Given the description of an element on the screen output the (x, y) to click on. 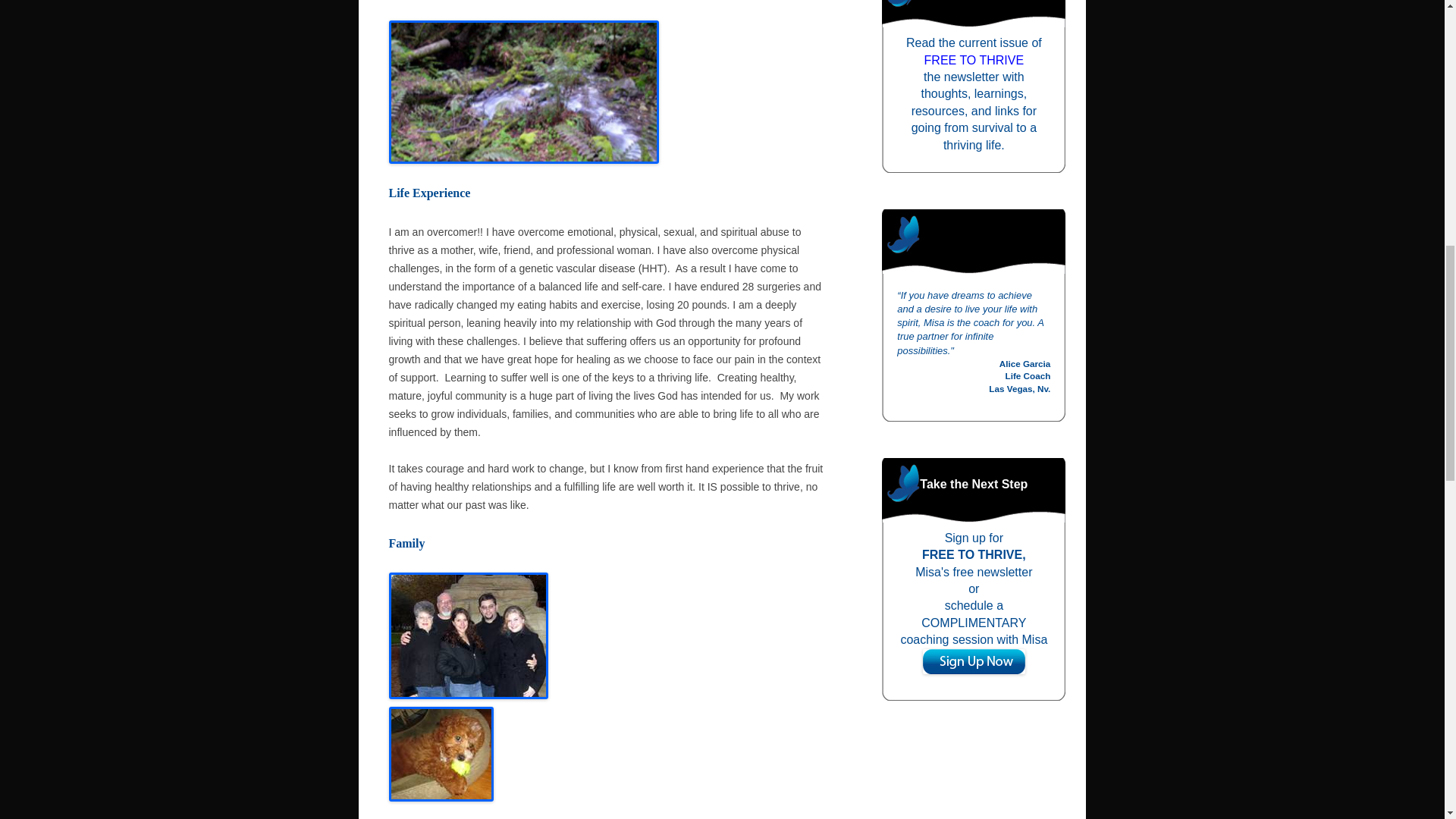
FREE TO THRIVE (974, 60)
